Given the description of an element on the screen output the (x, y) to click on. 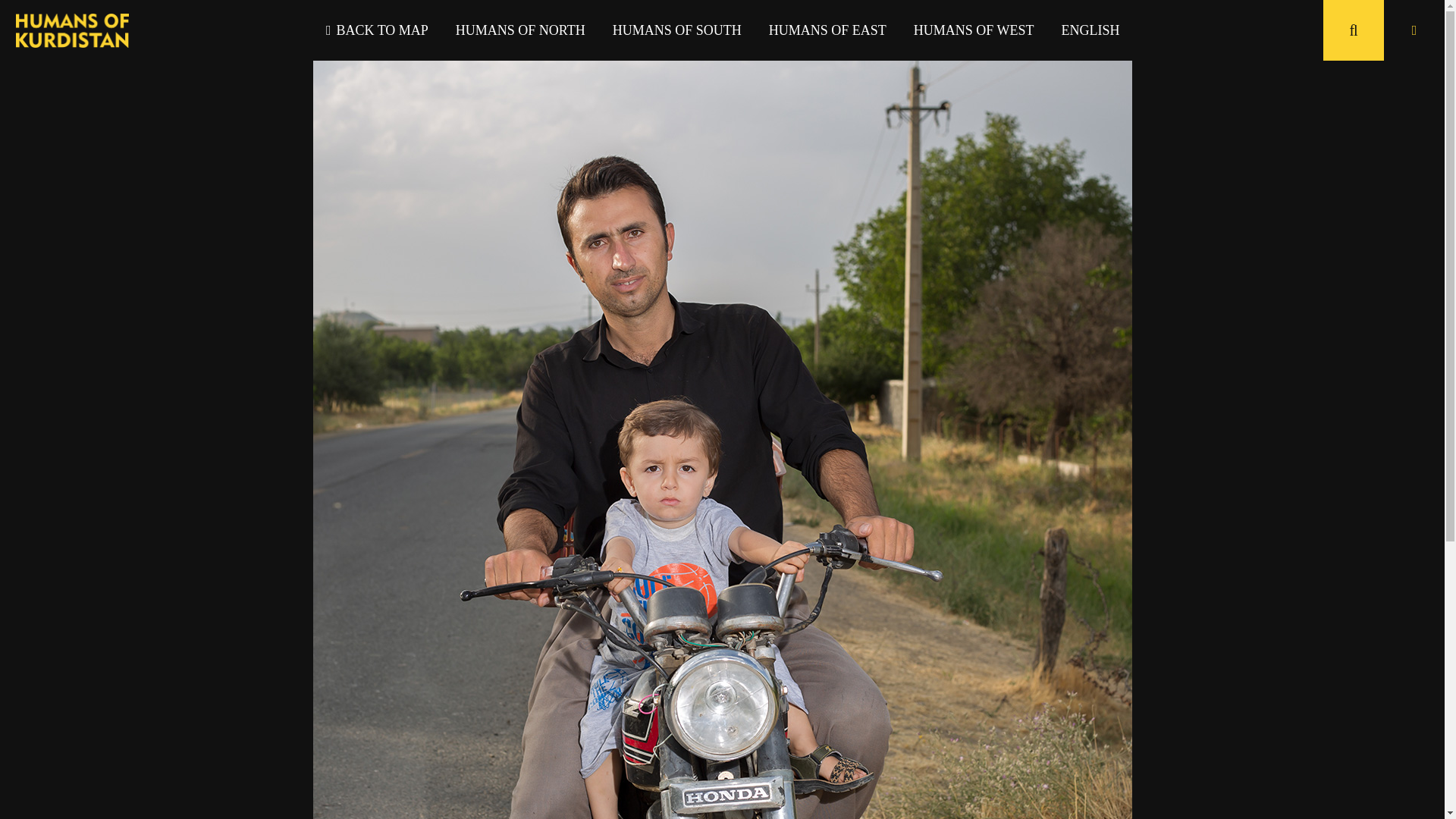
HUMANS OF EAST (827, 30)
Instagram (769, 730)
Vim Foundation (1382, 799)
ENGLISH (1091, 30)
BACK TO MAP (377, 30)
HUMANS OF NORTH (520, 30)
HUMANS OF SOUTH (676, 30)
HUMANS OF WEST (973, 30)
X (721, 730)
Facebook (674, 730)
English (1091, 30)
